Given the description of an element on the screen output the (x, y) to click on. 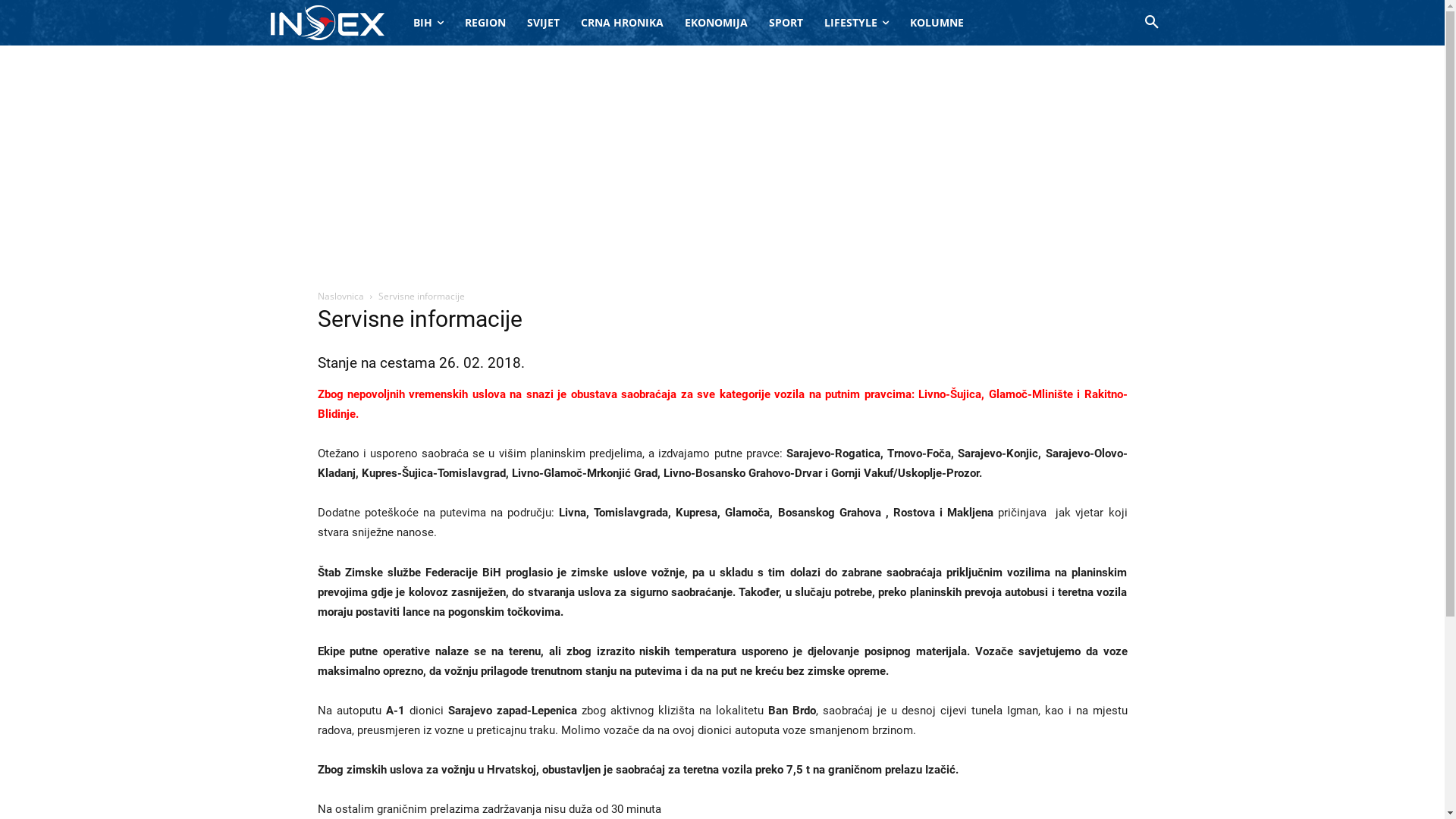
SVIJET Element type: text (542, 22)
BIH Element type: text (427, 22)
LIFESTYLE Element type: text (855, 22)
Advertisement Element type: hover (721, 159)
EKONOMIJA Element type: text (715, 22)
Naslovnica Element type: text (339, 295)
SPORT Element type: text (785, 22)
KOLUMNE Element type: text (936, 22)
Index news portal Element type: hover (326, 22)
CRNA HRONIKA Element type: text (622, 22)
REGION Element type: text (484, 22)
